Given the description of an element on the screen output the (x, y) to click on. 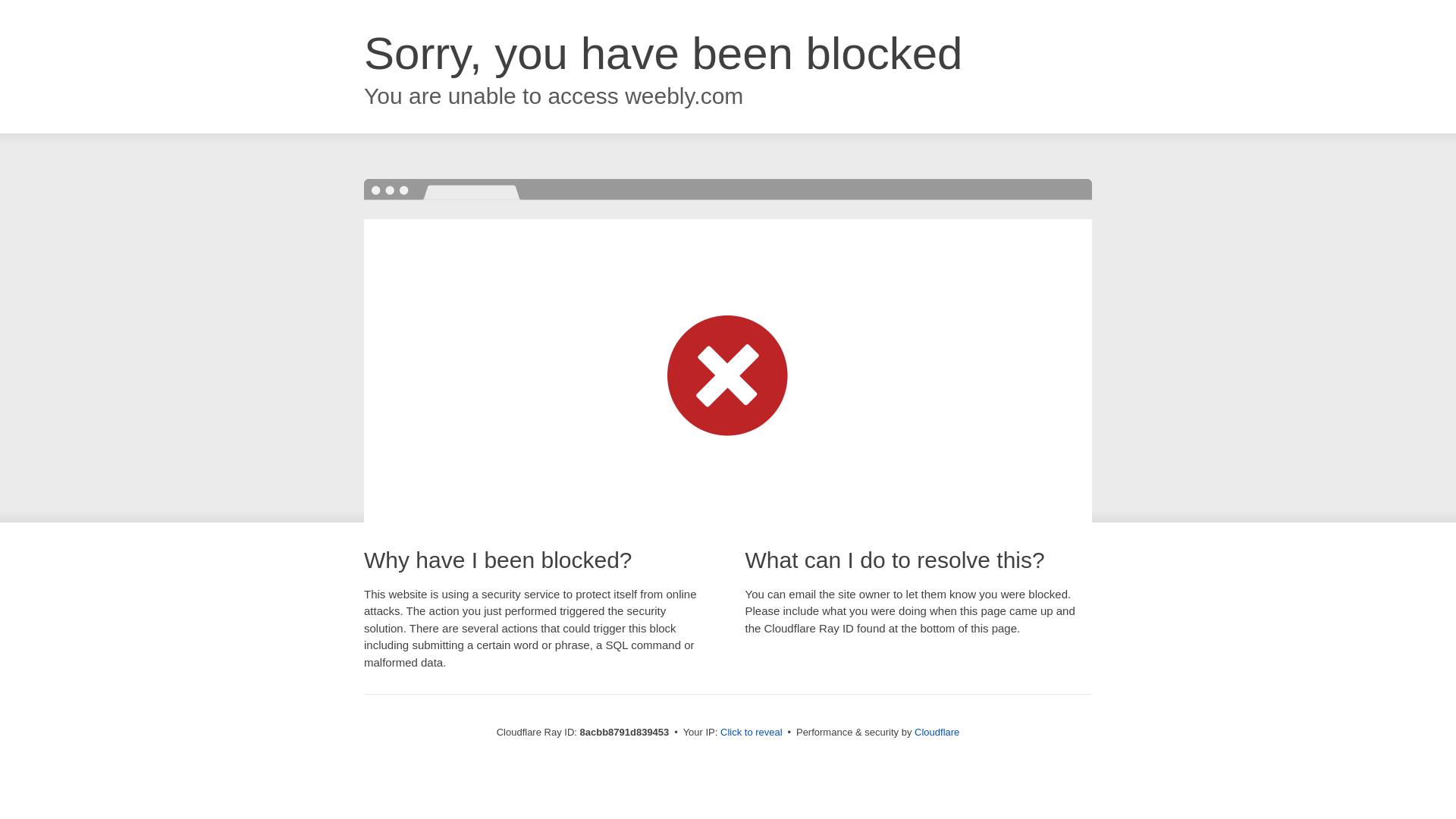
Click to reveal (751, 732)
Cloudflare (936, 731)
